Given the description of an element on the screen output the (x, y) to click on. 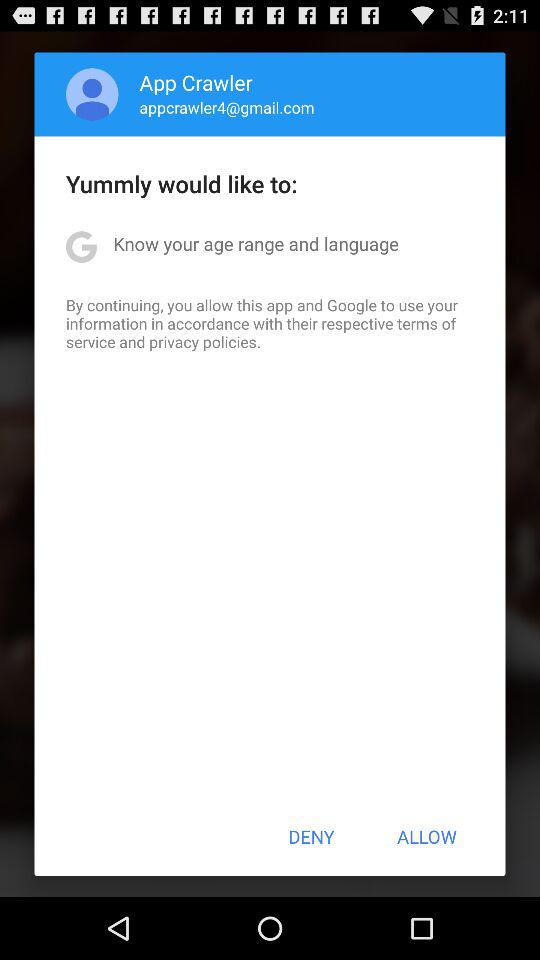
choose item above appcrawler4@gmail.com (195, 82)
